Given the description of an element on the screen output the (x, y) to click on. 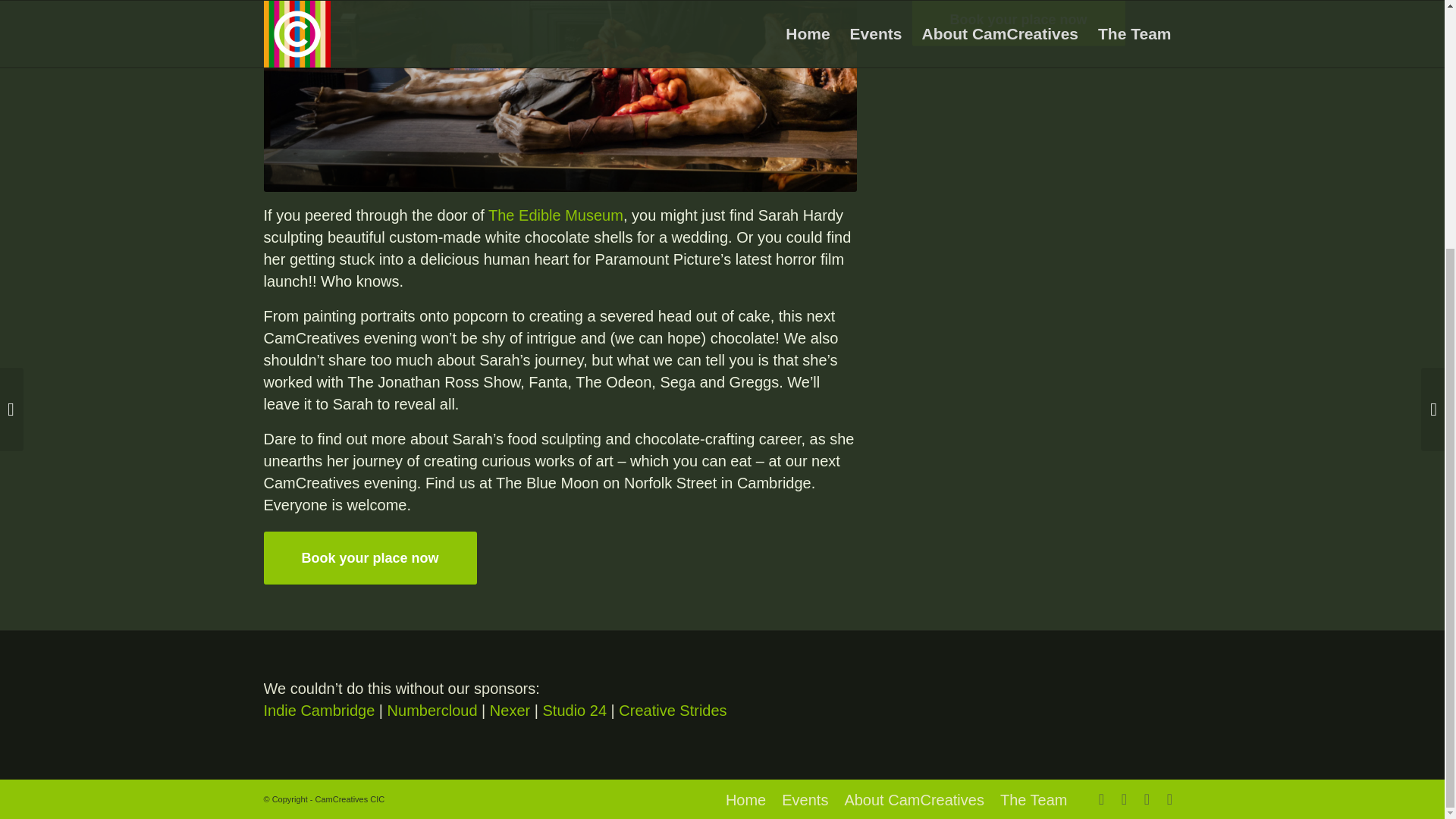
The Edible Museum (555, 215)
Nexer (509, 710)
Indie Cambridge (319, 710)
Home (745, 799)
Book your place now (370, 558)
Instagram (1124, 798)
The Team (1033, 799)
Events (804, 799)
Book your place now (1018, 23)
About CamCreatives (914, 799)
